Given the description of an element on the screen output the (x, y) to click on. 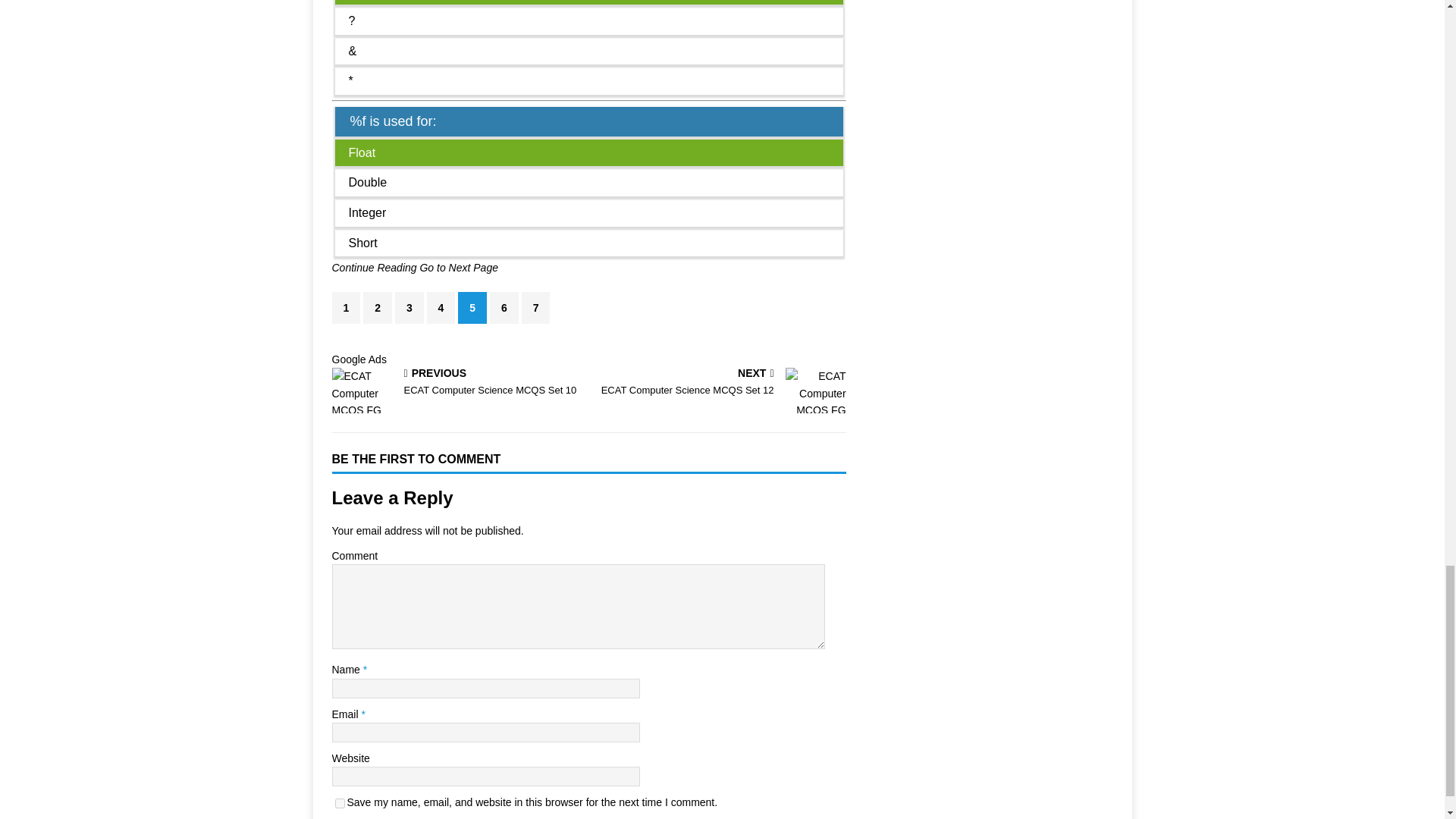
yes (339, 803)
